Given the description of an element on the screen output the (x, y) to click on. 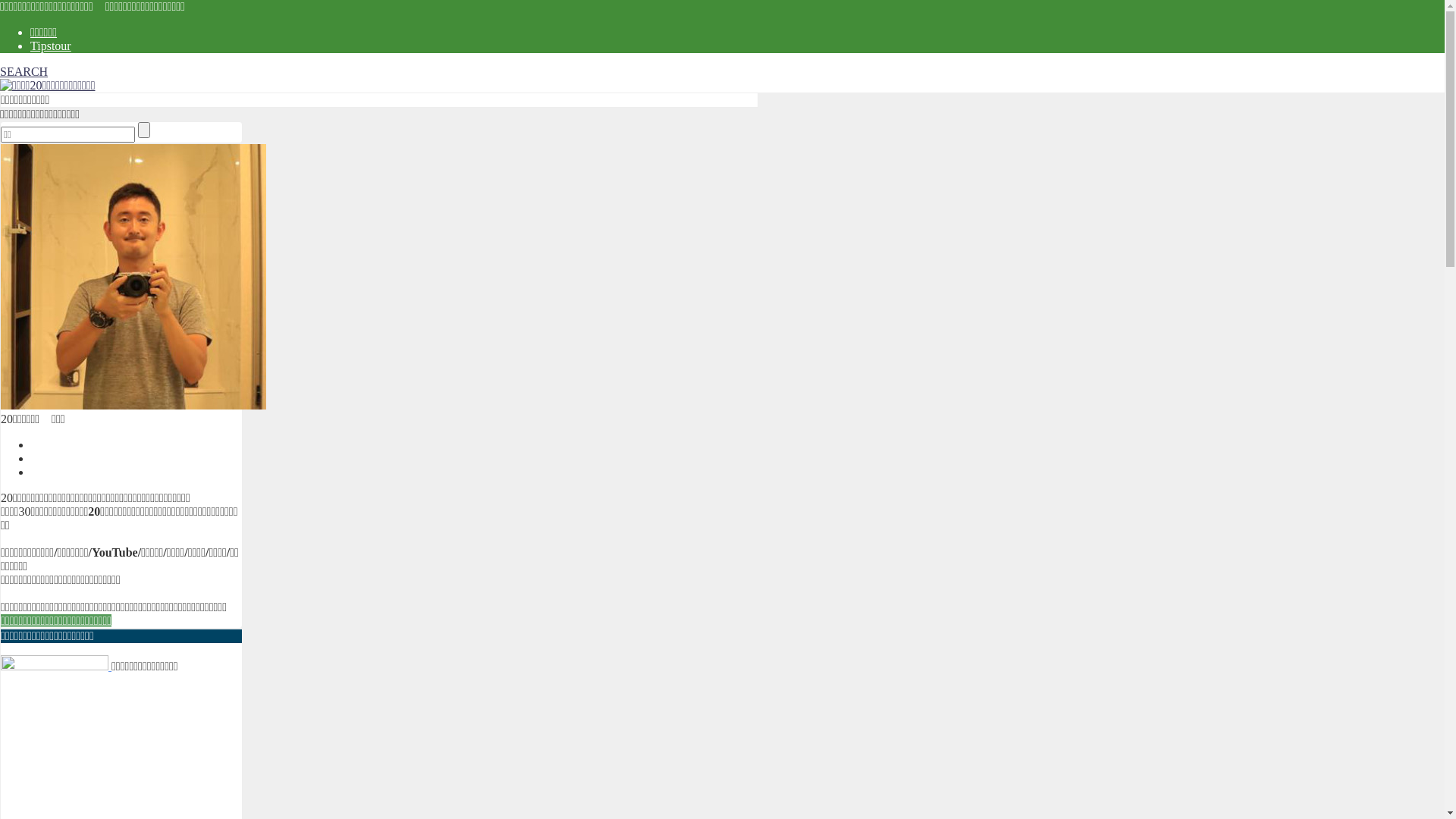
Tipstour Element type: text (50, 45)
SEARCH Element type: text (379, 71)
